Given the description of an element on the screen output the (x, y) to click on. 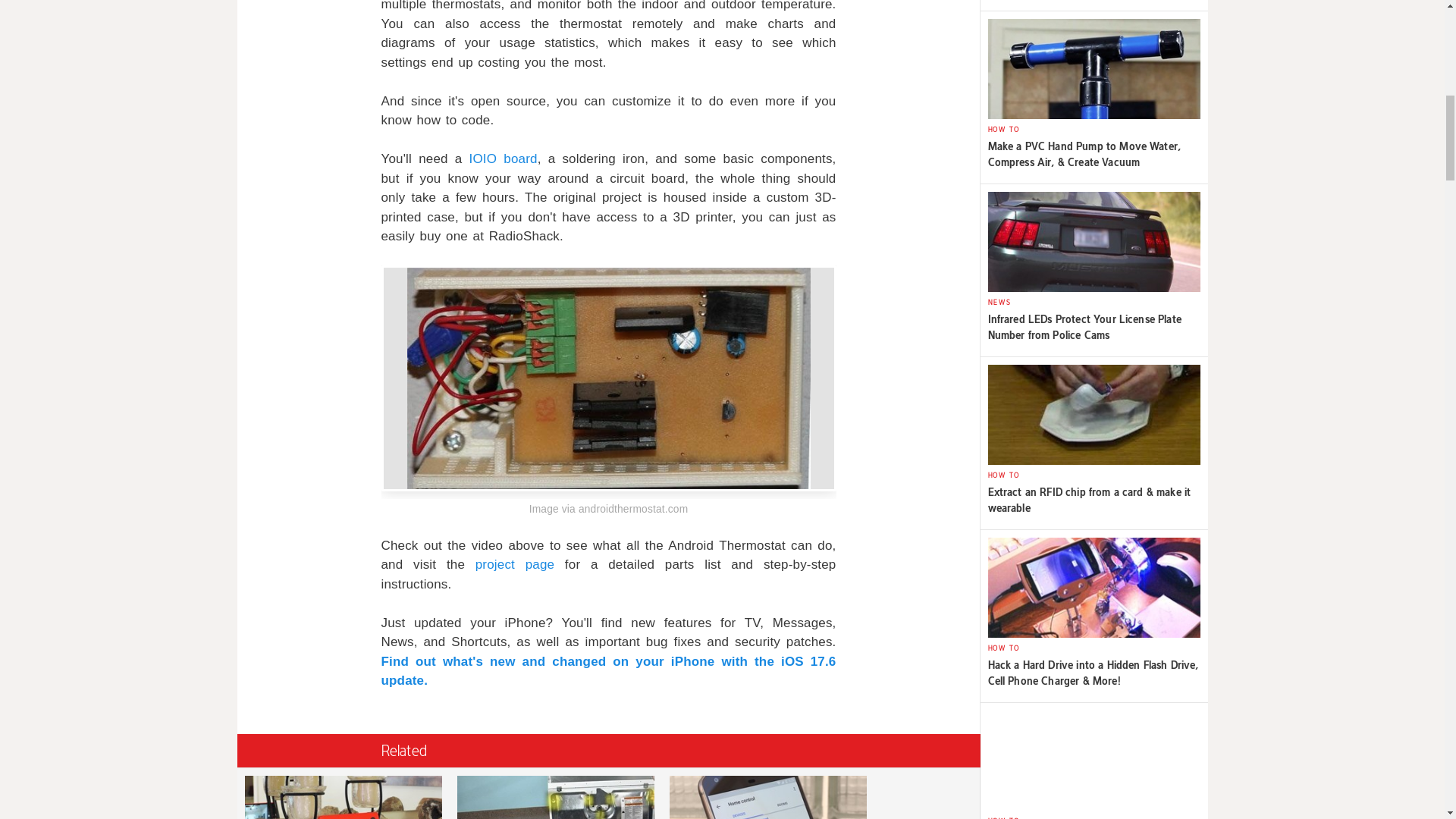
androidthermostat.com (554, 793)
project page (341, 793)
IOIO board (632, 509)
